Given the description of an element on the screen output the (x, y) to click on. 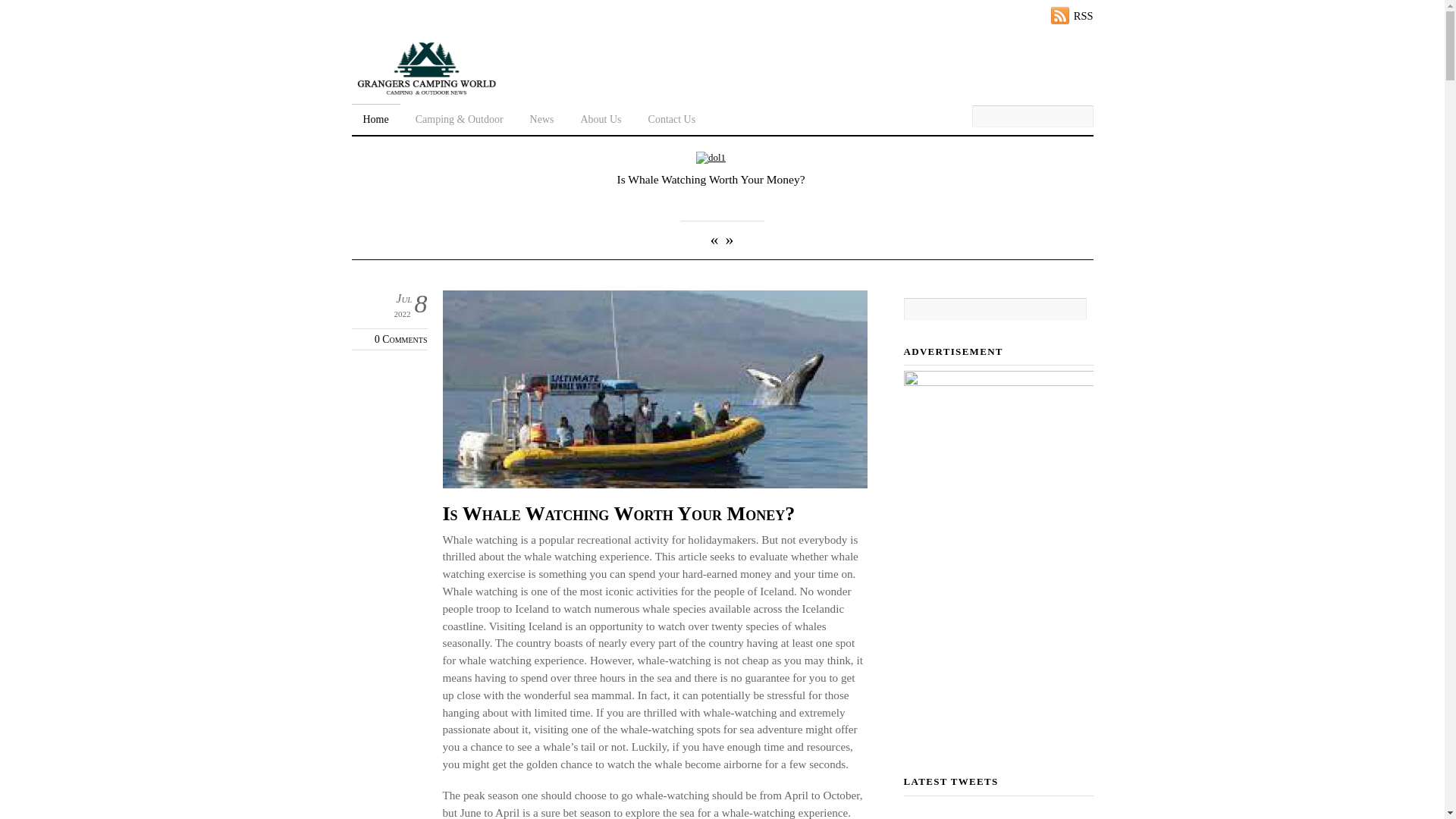
Is Whale Watching Worth Your Money? Element type: text (710, 178)
News Element type: text (541, 115)
RSS Element type: text (1072, 15)
About Us Element type: text (600, 115)
Home Element type: text (375, 115)
Is Whale Watching Worth Your Money? Element type: text (618, 513)
Advertisement Element type: hover (998, 559)
Is Whale Watching Worth Your Money? Element type: hover (710, 157)
Grangers Camping World Element type: hover (425, 66)
Contact Us Element type: text (672, 115)
Search Element type: hover (1032, 116)
Camping & Outdoor Element type: text (459, 115)
Search Element type: hover (994, 309)
Grangers Camping World Element type: hover (425, 91)
0 Comments Element type: text (400, 339)
